Given the description of an element on the screen output the (x, y) to click on. 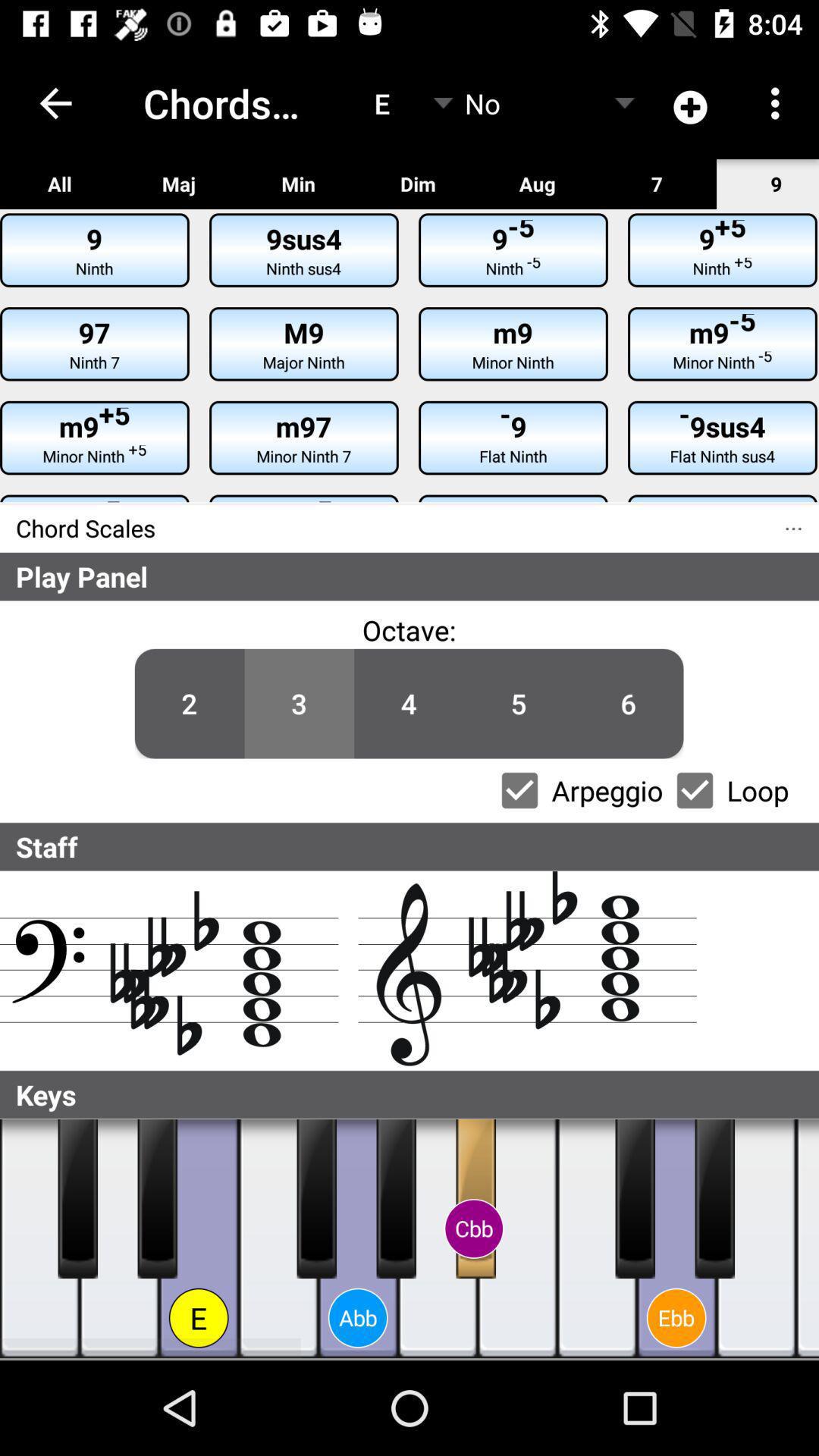
make e note sound (198, 1238)
